Given the description of an element on the screen output the (x, y) to click on. 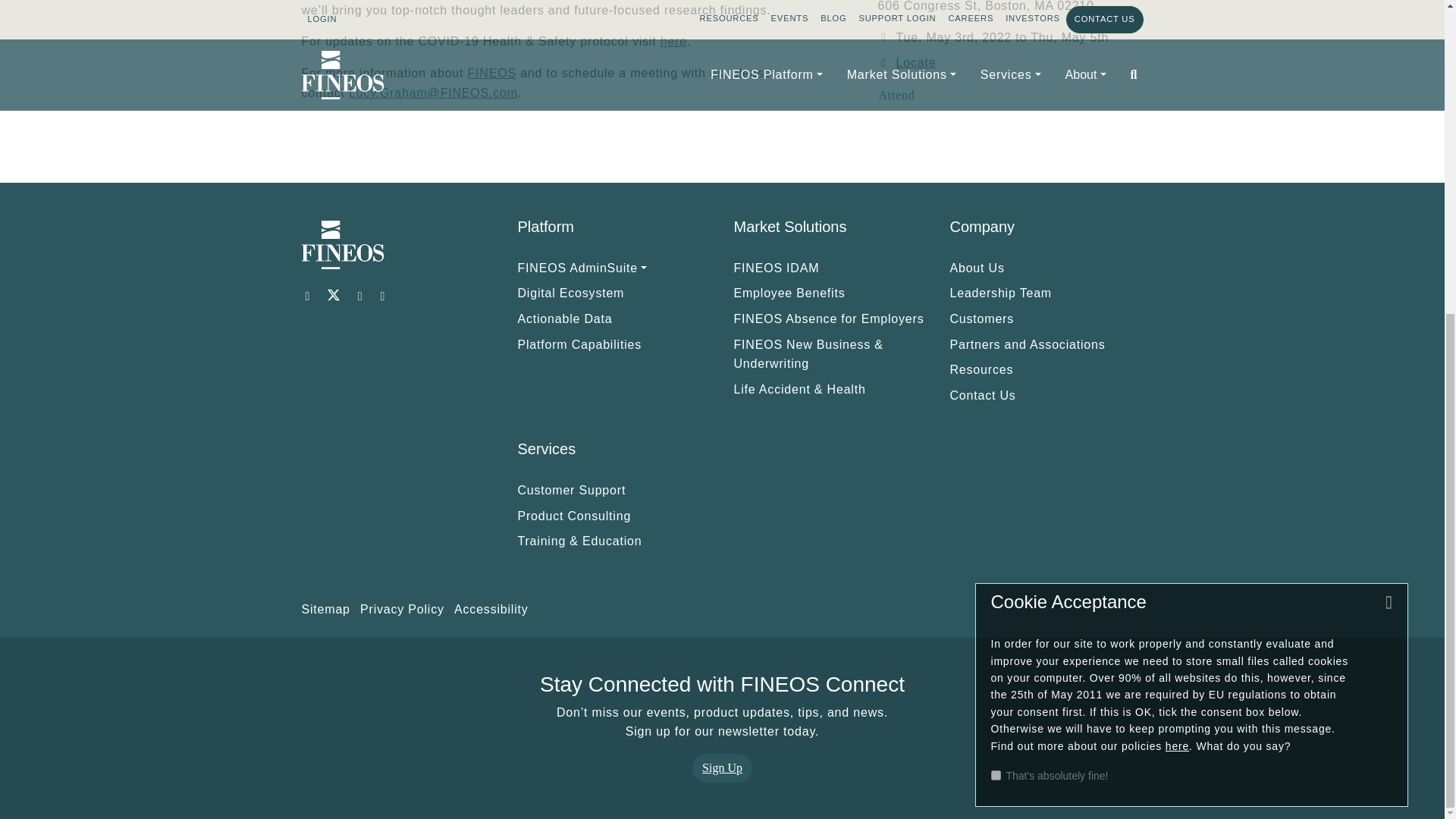
on (995, 274)
